Given the description of an element on the screen output the (x, y) to click on. 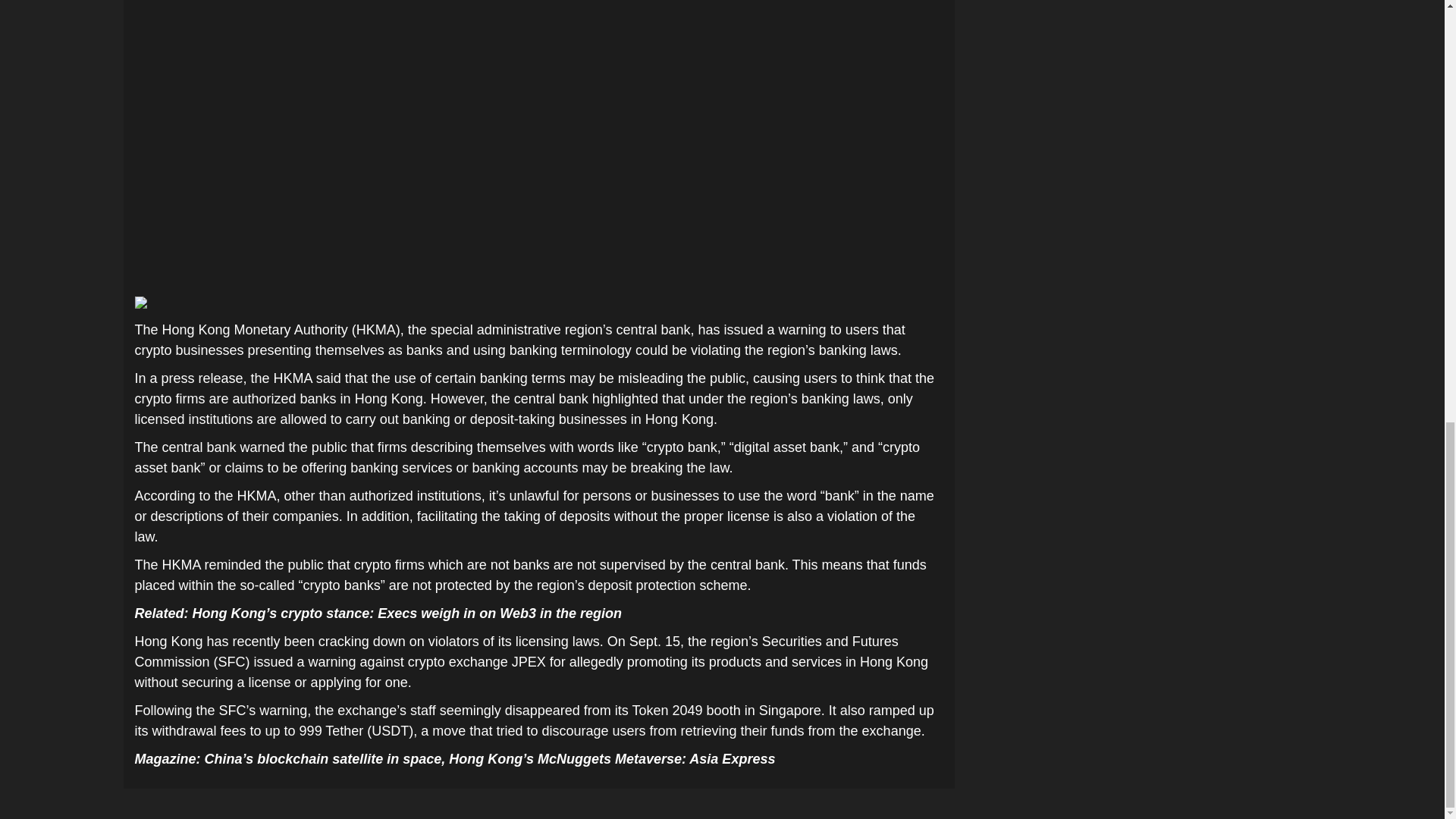
USDT (390, 730)
said (327, 378)
issued a warning (304, 661)
